Given the description of an element on the screen output the (x, y) to click on. 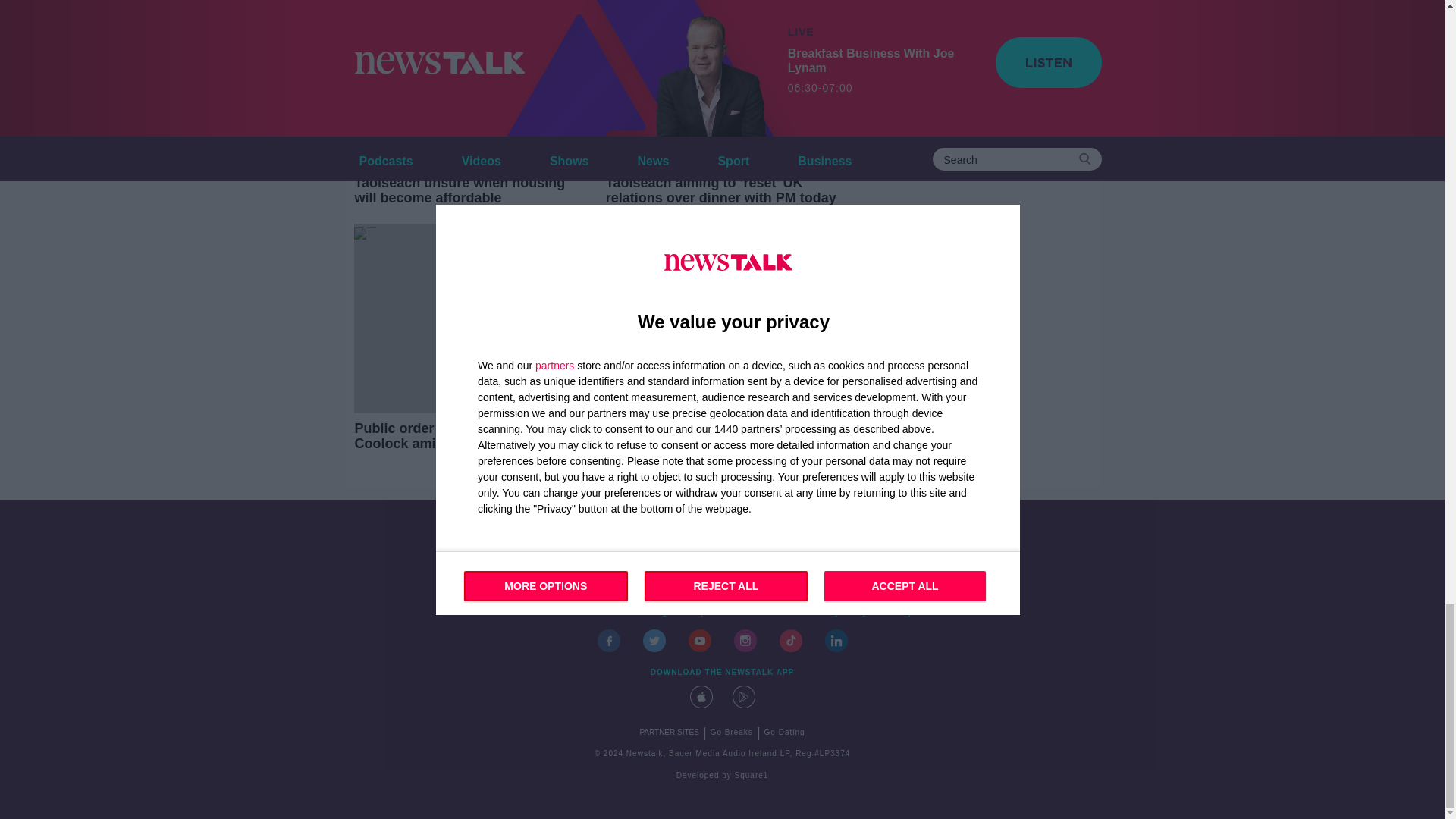
competitions (708, 612)
advertising (644, 612)
events (592, 612)
Privacy Policy (838, 612)
site terms (772, 612)
Privacy (897, 612)
contact (547, 612)
